Given the description of an element on the screen output the (x, y) to click on. 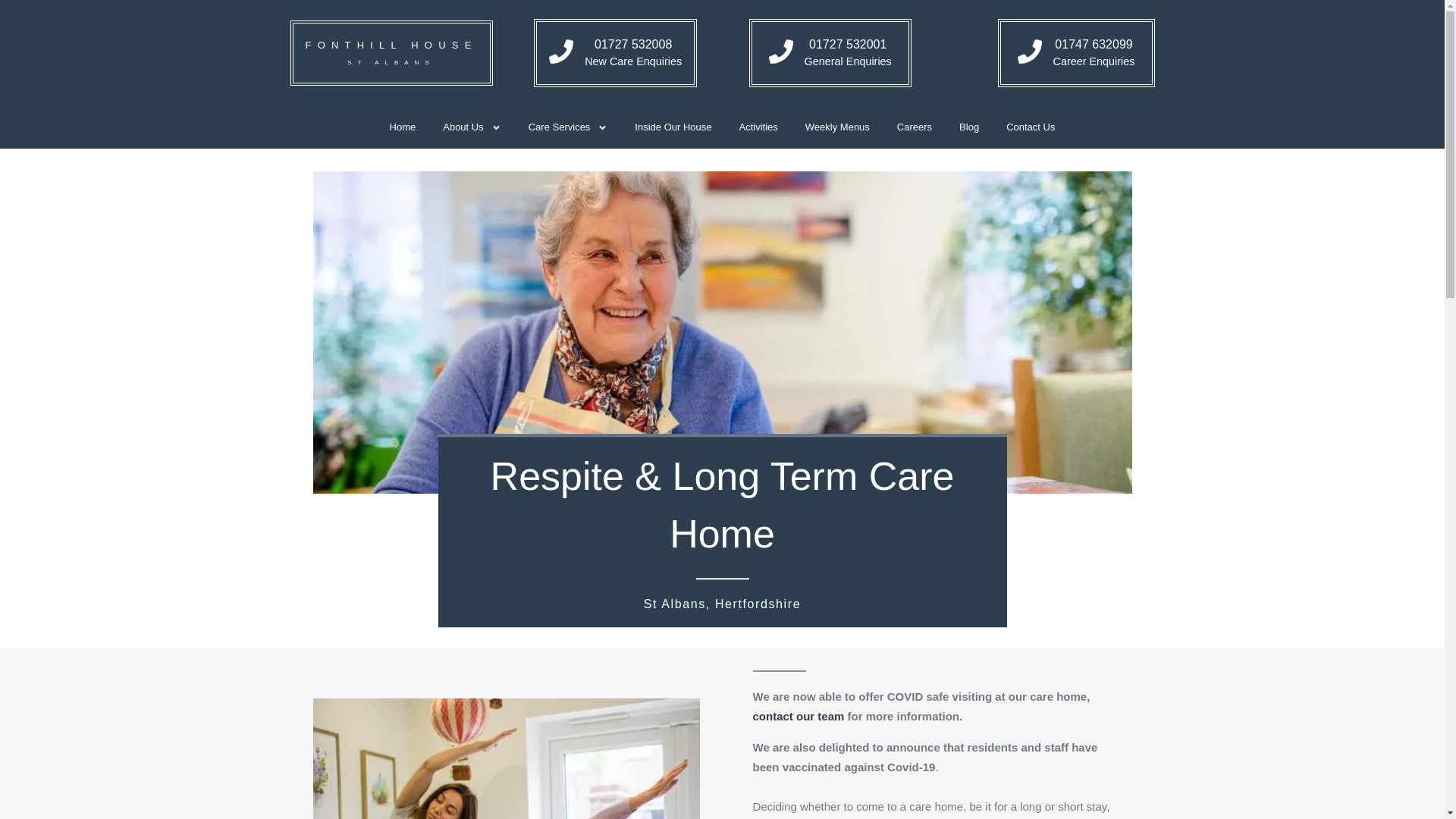
Contact Us (1030, 127)
Activities (1075, 52)
Home (758, 127)
Careers (402, 127)
Blog (390, 52)
About Us (913, 127)
Weekly Menus (968, 127)
Care Services (830, 52)
Inside Our House (615, 52)
